Given the description of an element on the screen output the (x, y) to click on. 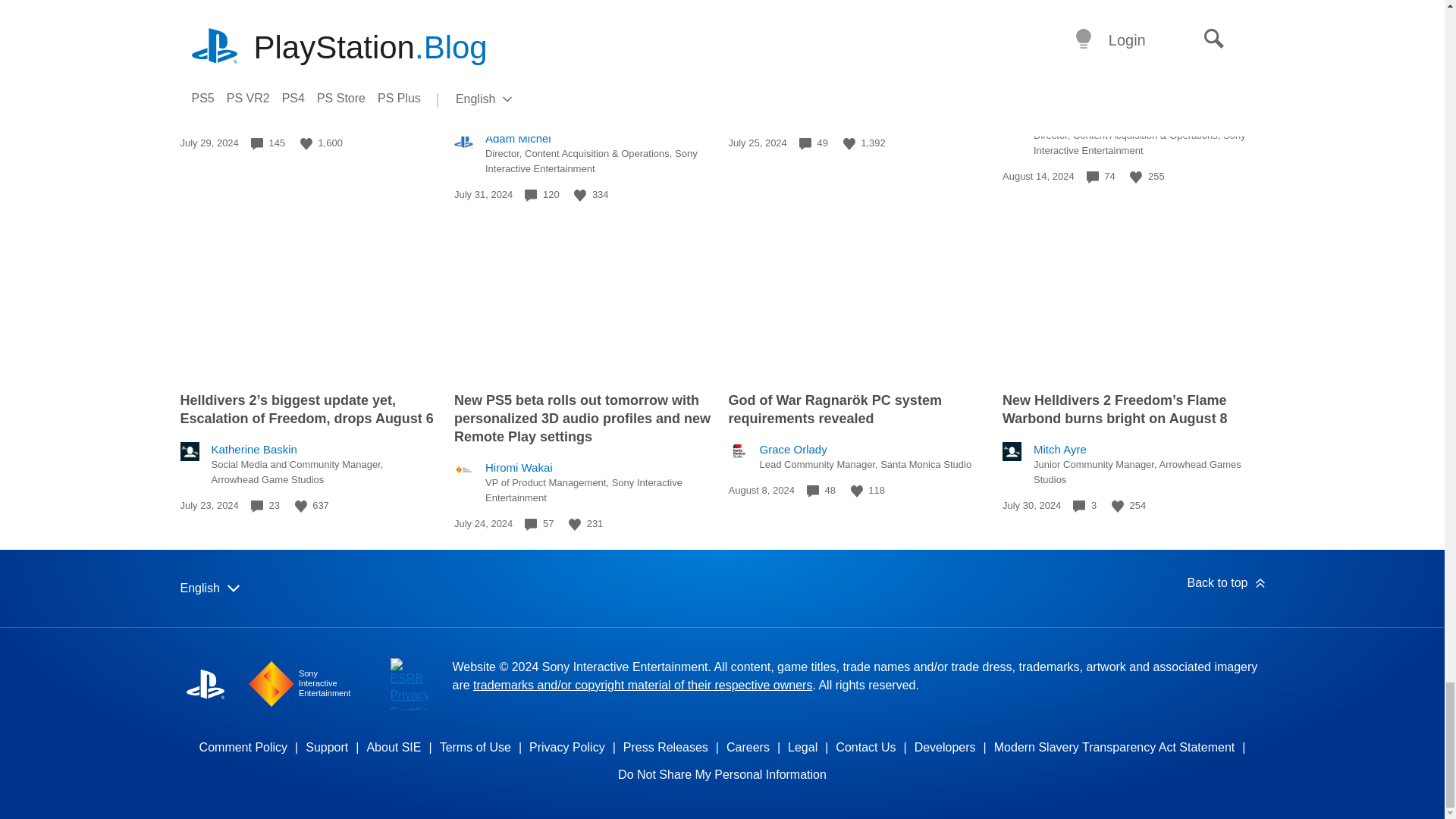
Like this (579, 195)
Like this (849, 143)
Like this (1135, 177)
Like this (306, 143)
